Given the description of an element on the screen output the (x, y) to click on. 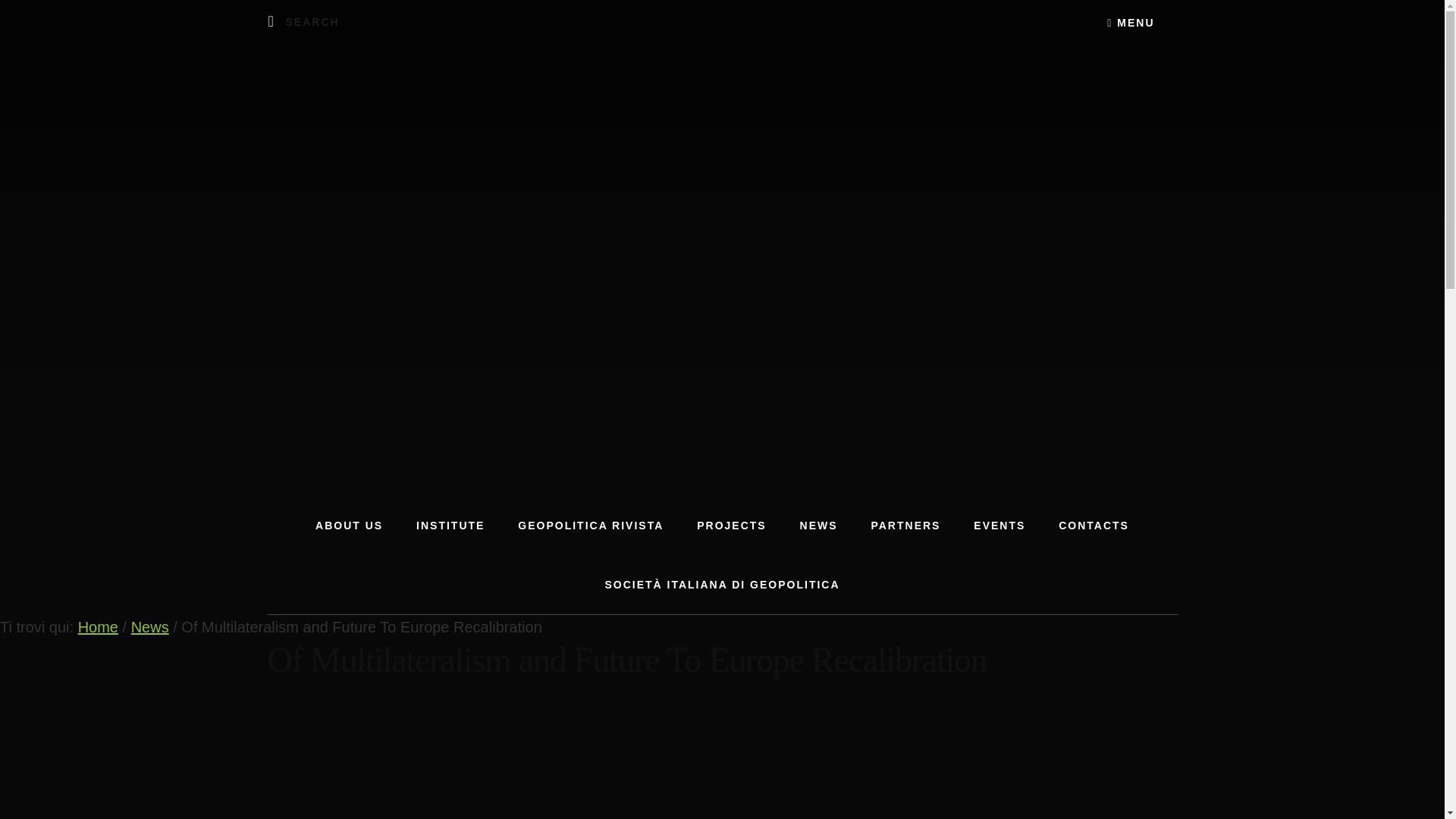
NEWS (818, 525)
INSTITUTE (450, 525)
Home (97, 627)
EVENTS (999, 525)
PARTNERS (905, 525)
MENU (1130, 22)
ABOUT US (348, 525)
CONTACTS (1093, 525)
GEOPOLITICA RIVISTA (590, 525)
News (149, 627)
PROJECTS (730, 525)
